Given the description of an element on the screen output the (x, y) to click on. 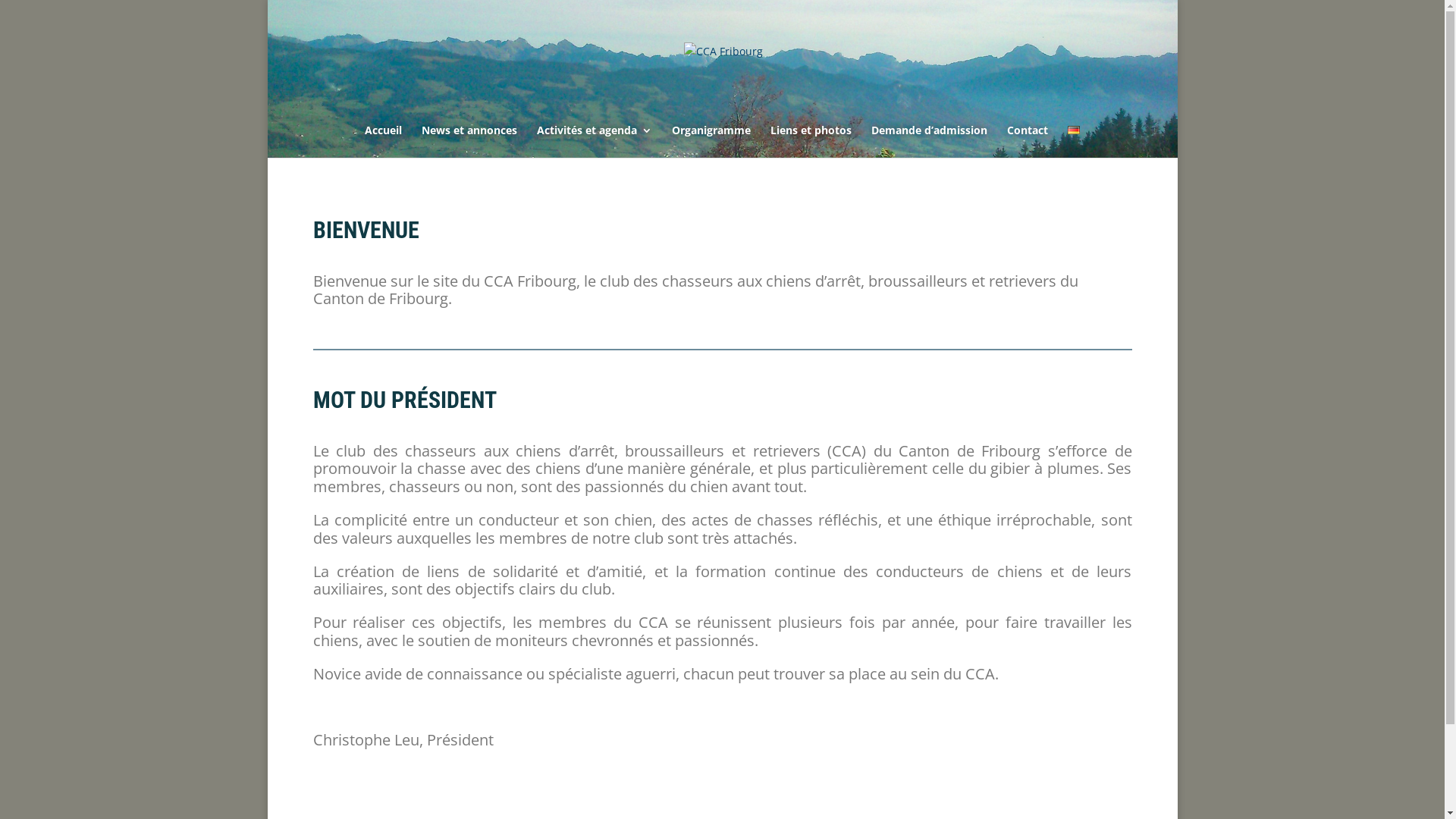
Contact Element type: text (1026, 141)
Accueil Element type: text (382, 141)
News et annonces Element type: text (468, 141)
Organigramme Element type: text (710, 141)
Liens et photos Element type: text (809, 141)
